Given the description of an element on the screen output the (x, y) to click on. 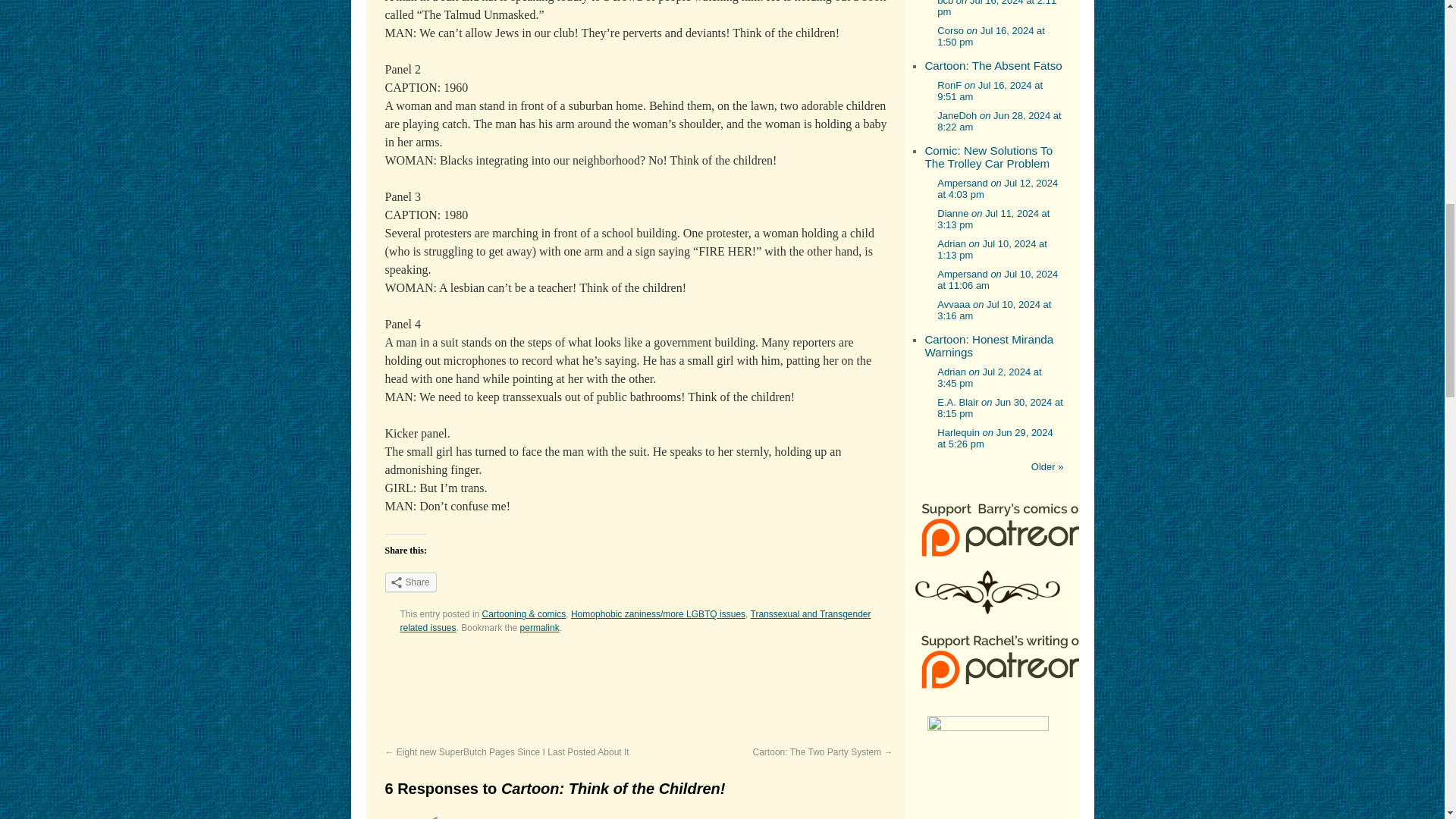
Permalink to Cartoon: Think of the Children! (539, 627)
Share (410, 582)
Transsexual and Transgender related issues (635, 621)
permalink (539, 627)
